Given the description of an element on the screen output the (x, y) to click on. 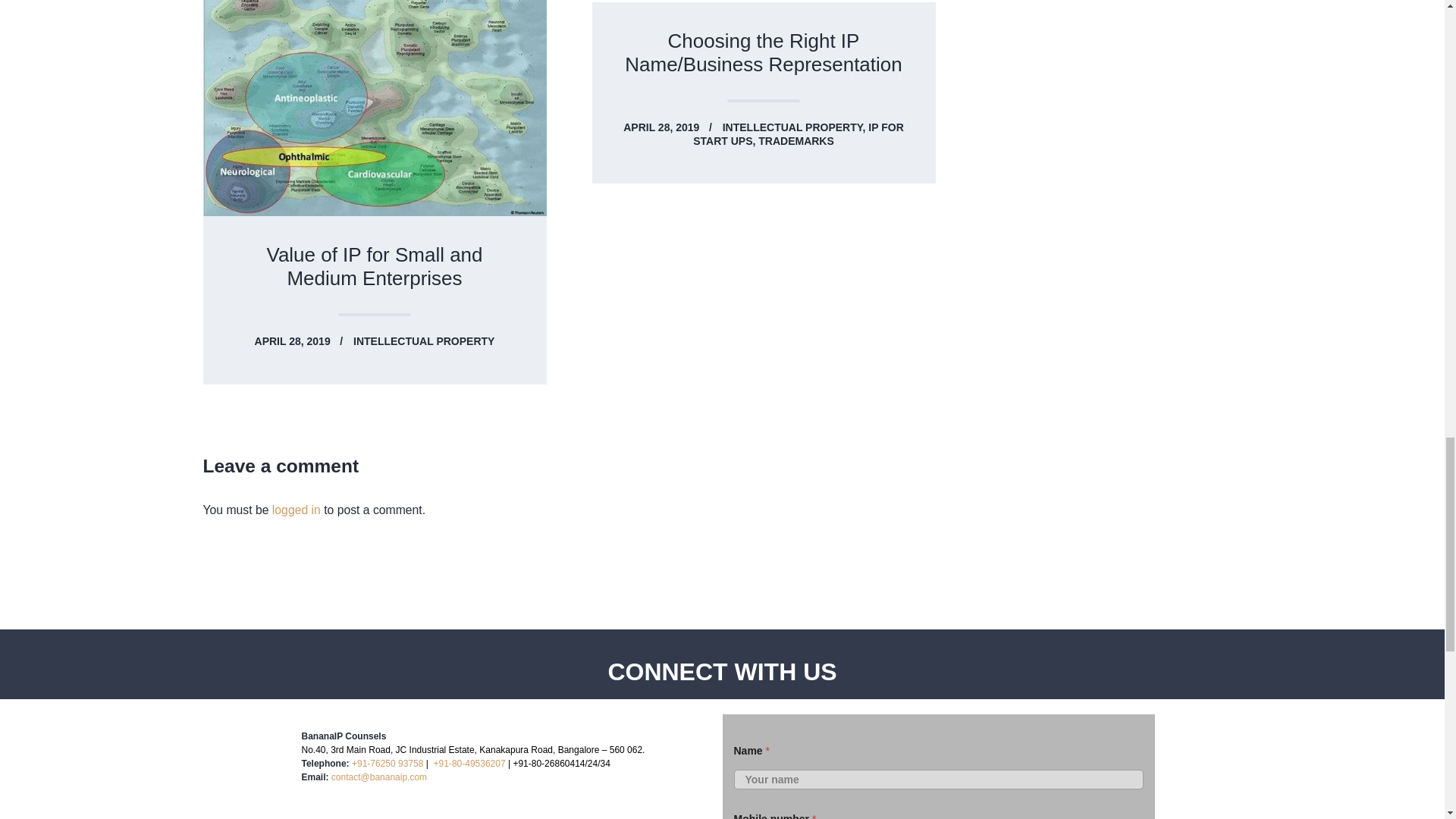
View all posts in Intellectual Property (795, 127)
View all posts in Trademarks (796, 141)
View all posts in Intellectual Property (424, 340)
View all posts in IP for Start Ups (798, 134)
